Given the description of an element on the screen output the (x, y) to click on. 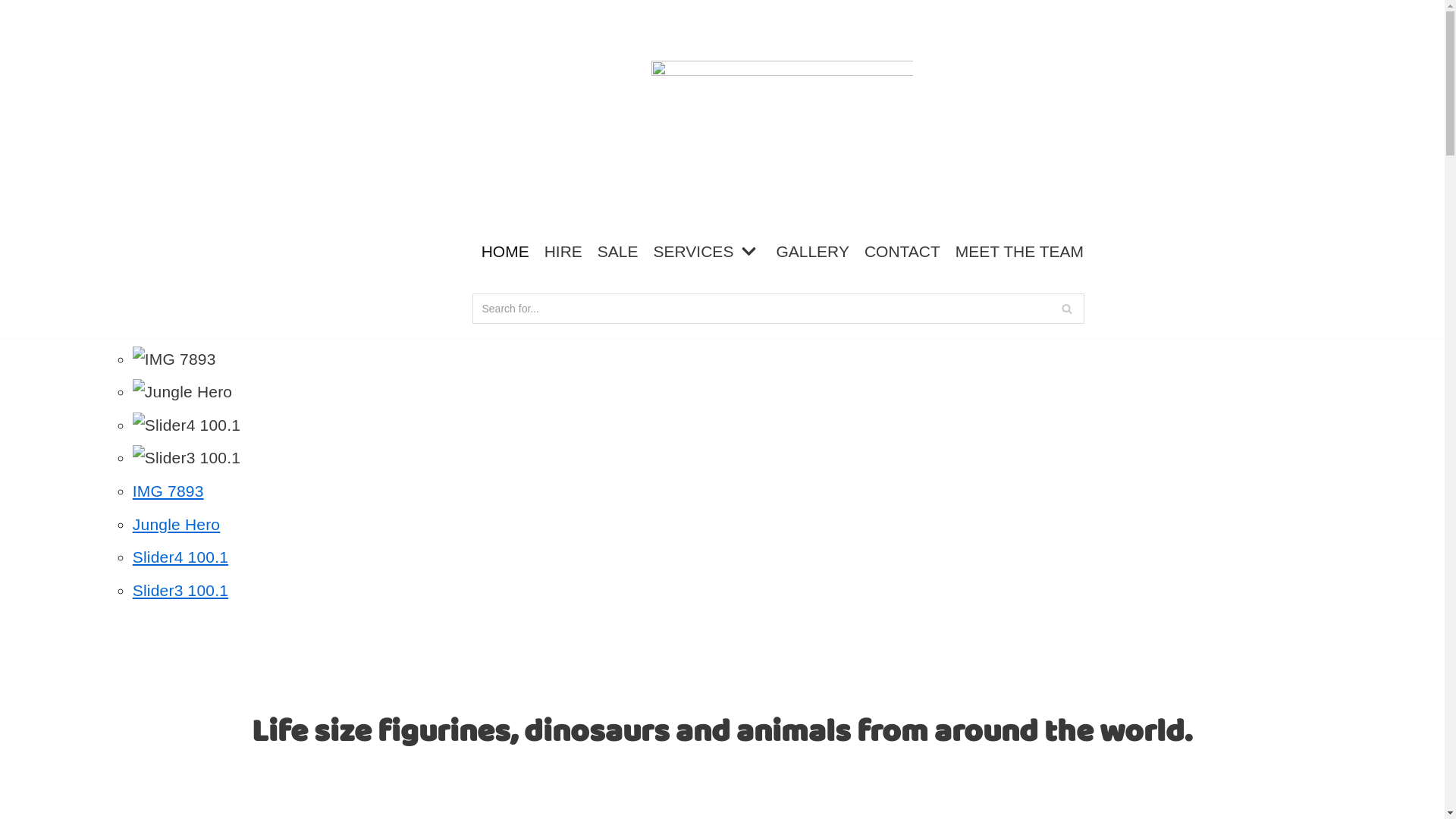
GALLERY Element type: text (812, 251)
MEET THE TEAM Element type: text (1019, 251)
SERVICES Element type: text (707, 251)
Slider4 100.1 Element type: text (180, 556)
HIRE Element type: text (563, 251)
Slider3 100.1 Element type: text (180, 590)
CONTACT Element type: text (902, 251)
HOME Element type: text (505, 251)
IMG 7893 Element type: text (167, 490)
Jungle Hero Element type: text (175, 524)
The WOW Facta Element type: hover (782, 112)
Skip to content Element type: text (15, 7)
SALE Element type: text (617, 251)
